Given the description of an element on the screen output the (x, y) to click on. 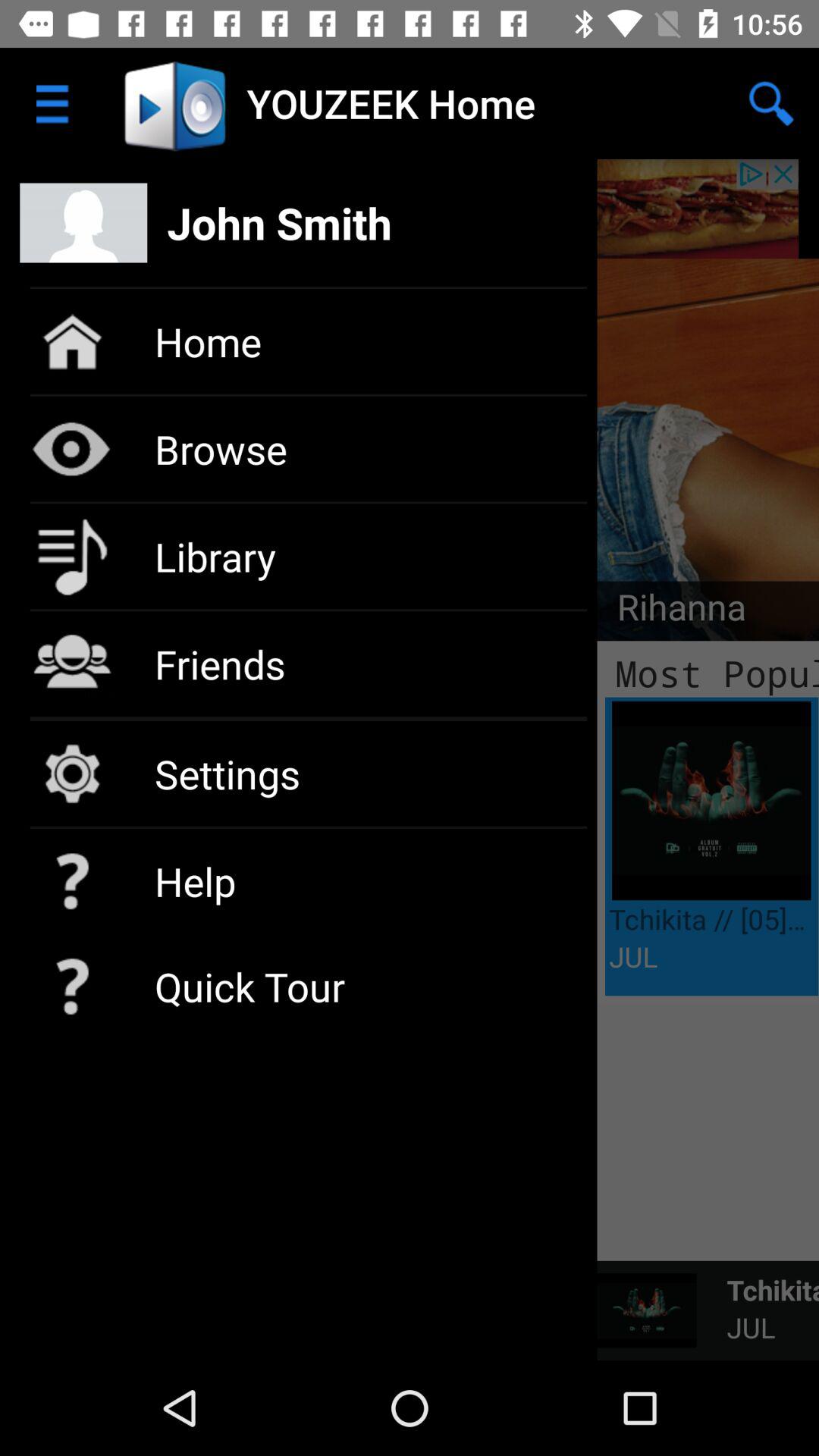
open your profile (409, 208)
